Given the description of an element on the screen output the (x, y) to click on. 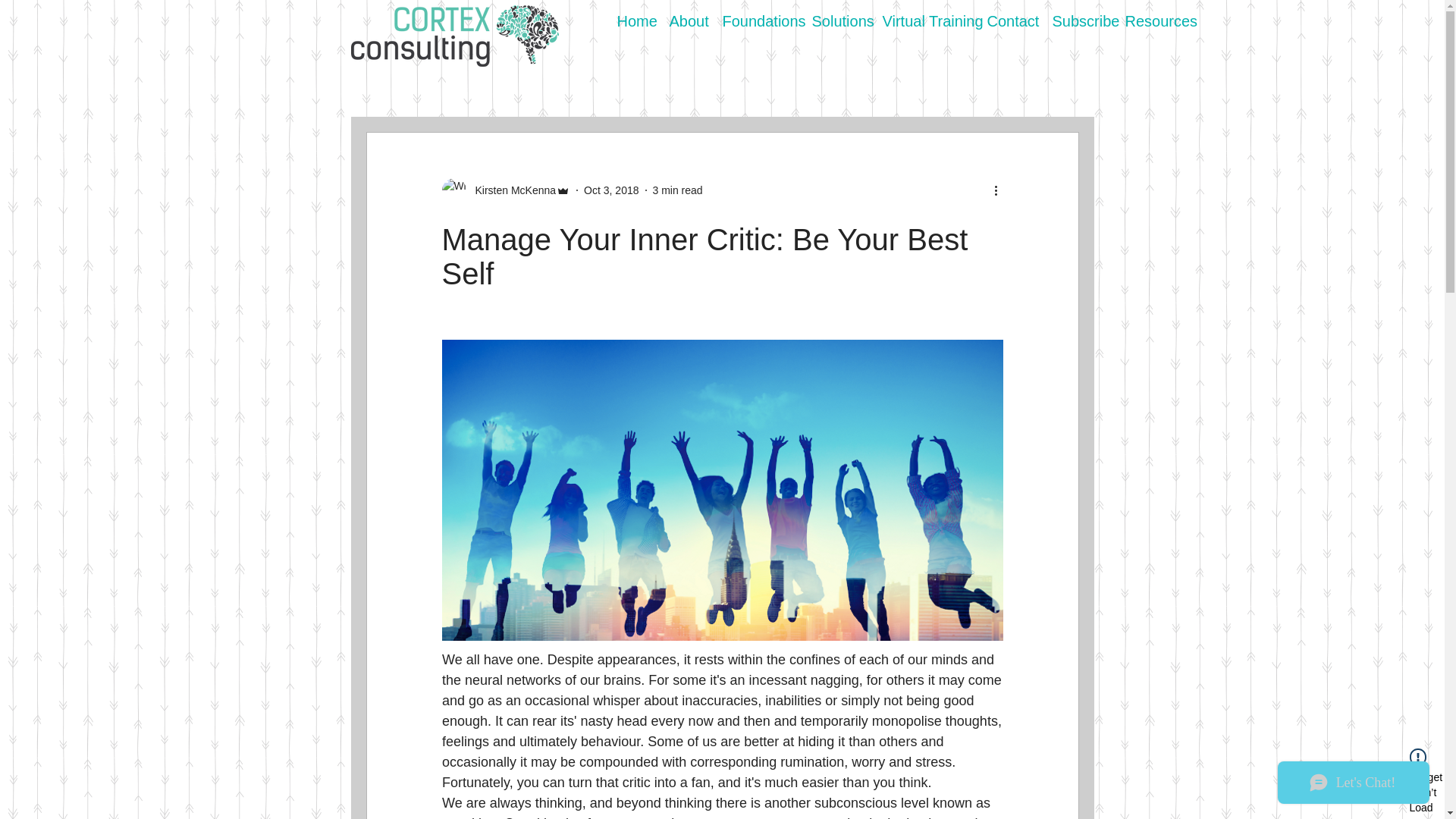
Home (636, 20)
About (687, 20)
Kirsten McKenna (510, 189)
Contact (1012, 20)
Solutions (839, 20)
Oct 3, 2018 (611, 189)
Virtual Training (927, 20)
Resources (1155, 20)
3 min read (676, 189)
Foundations (758, 20)
Subscribe (1081, 20)
Kirsten McKenna (505, 190)
